Given the description of an element on the screen output the (x, y) to click on. 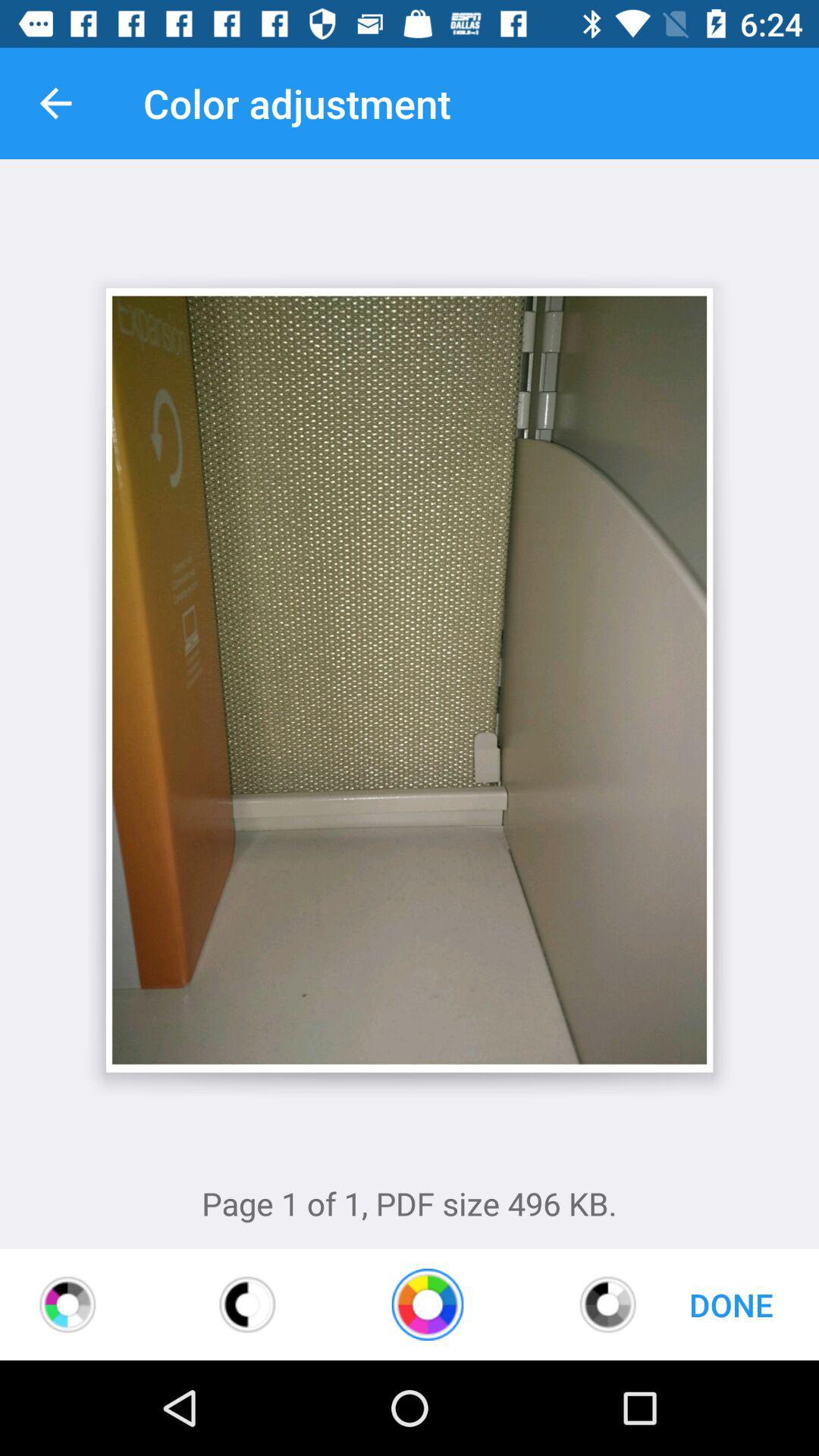
turn off item next to done (607, 1304)
